Given the description of an element on the screen output the (x, y) to click on. 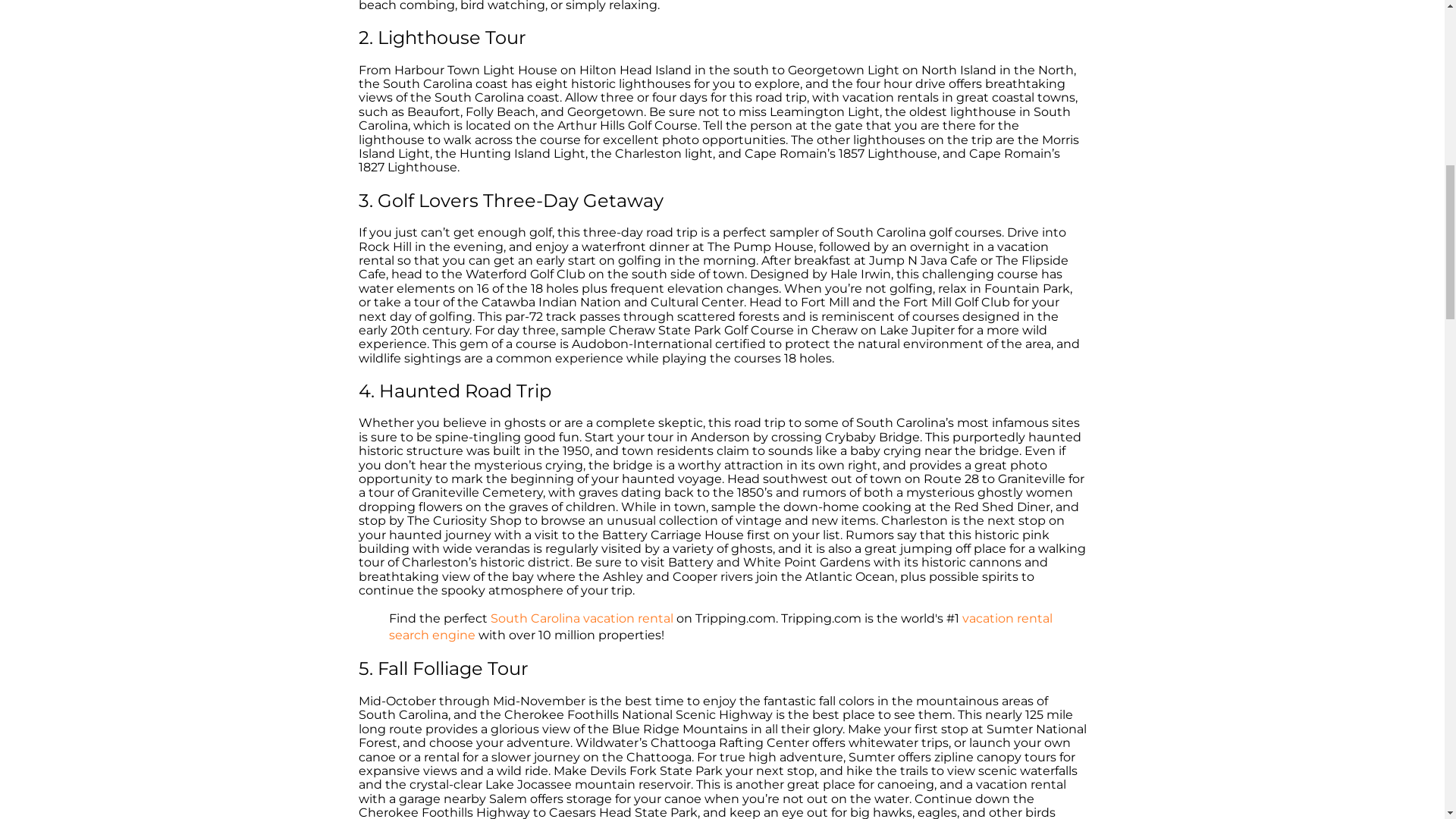
South Carolina vacation rental (580, 617)
vacation rental search engine (719, 626)
